Given the description of an element on the screen output the (x, y) to click on. 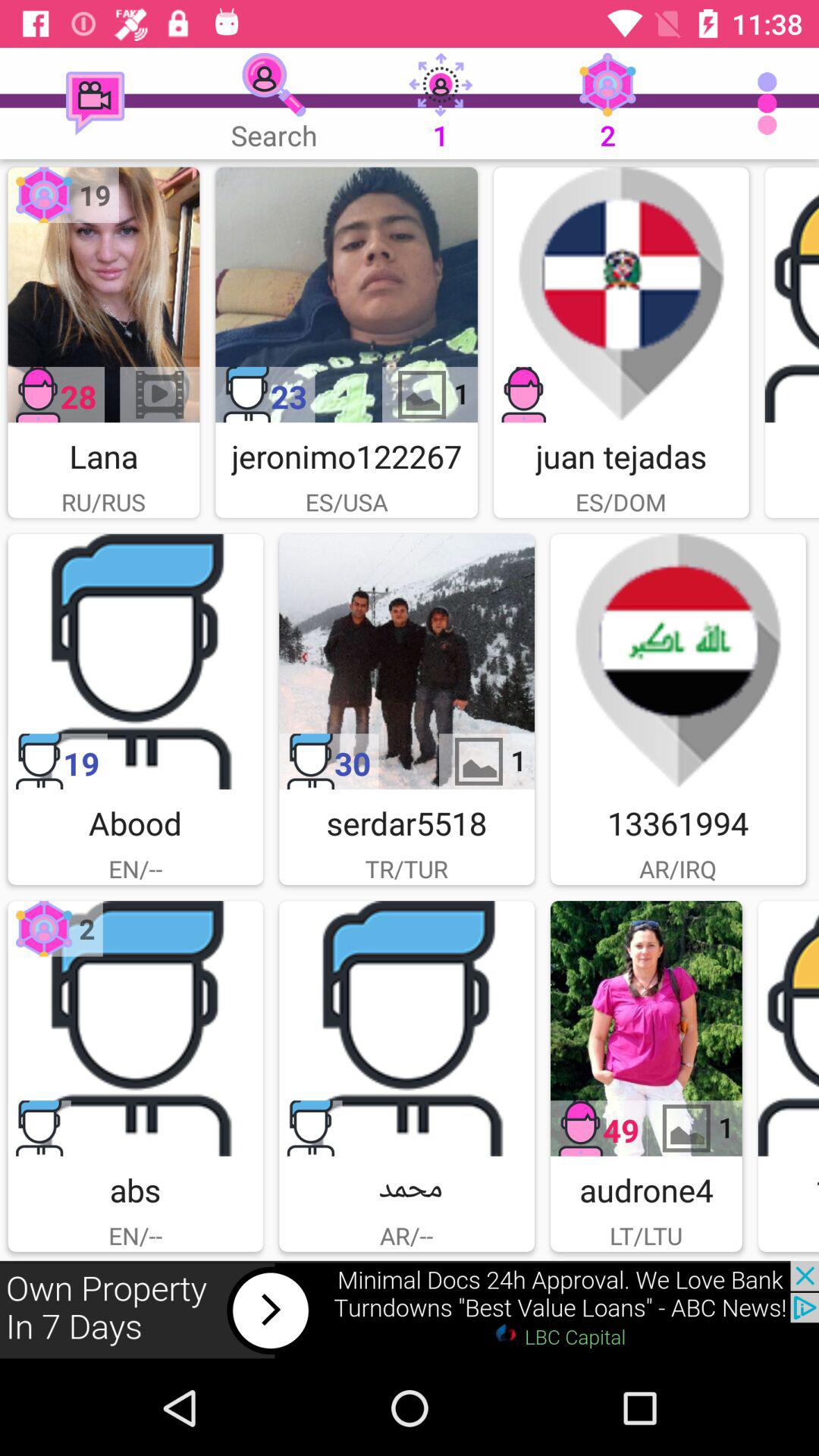
members (406, 1028)
